Given the description of an element on the screen output the (x, y) to click on. 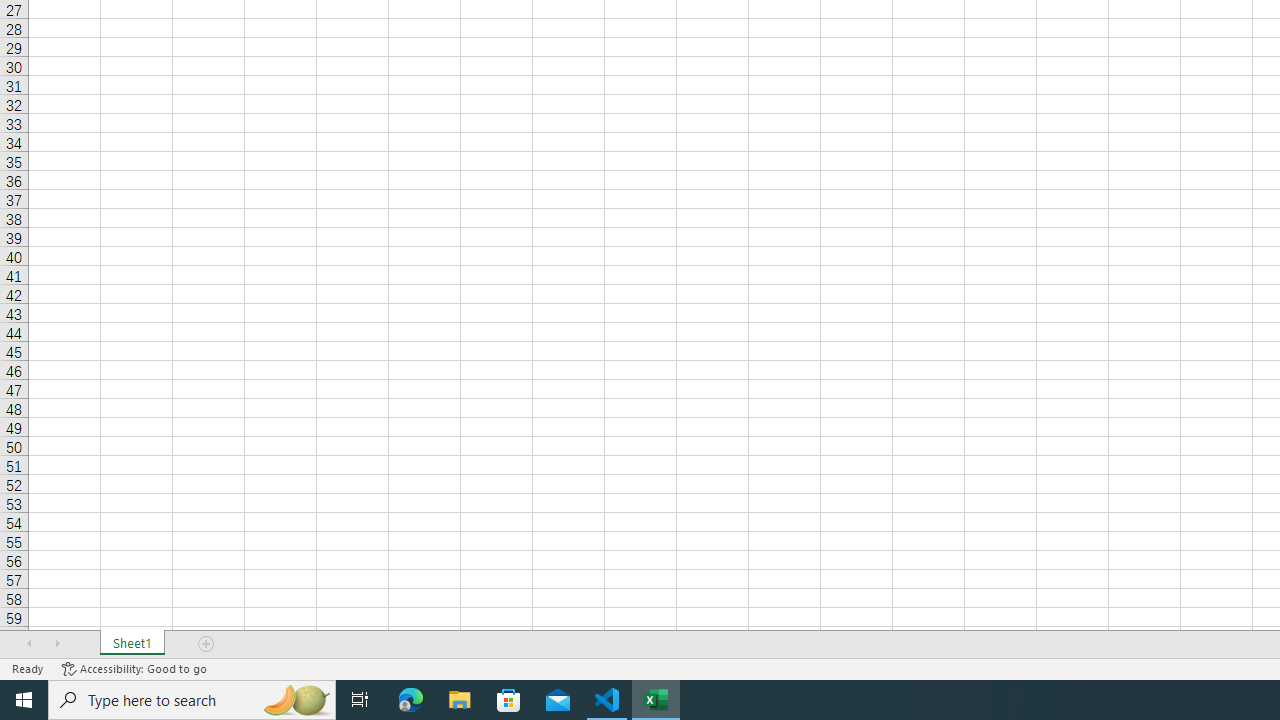
Sheet1 (132, 644)
Add Sheet (207, 644)
Accessibility Checker Accessibility: Good to go (134, 668)
Scroll Left (29, 644)
Scroll Right (57, 644)
